Given the description of an element on the screen output the (x, y) to click on. 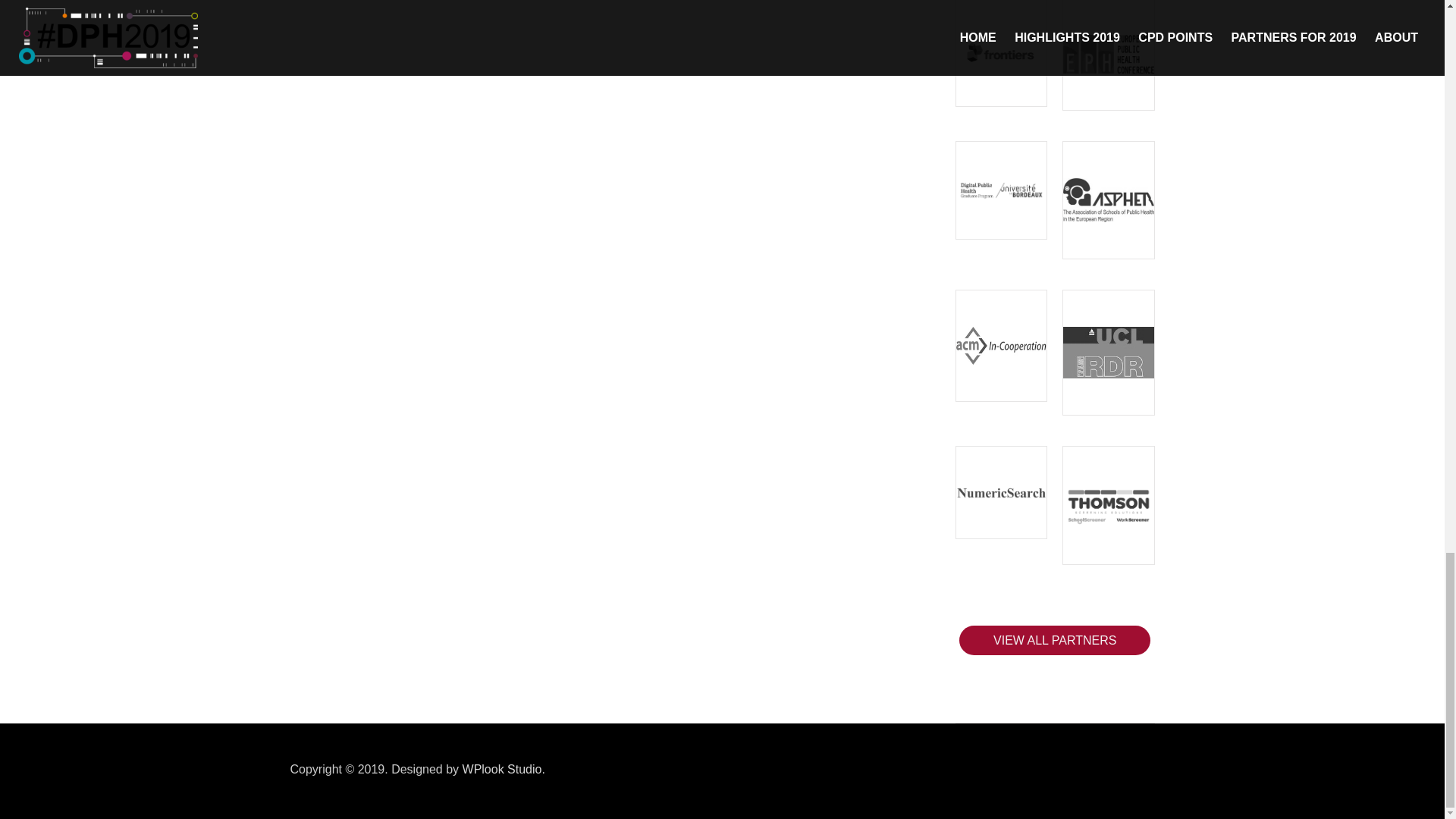
WPlook Studio. (503, 768)
NumericSearch (1000, 492)
VIEW ALL PARTNERS (1054, 640)
View all Partners (1054, 640)
WPlook Studio (503, 768)
